Given the description of an element on the screen output the (x, y) to click on. 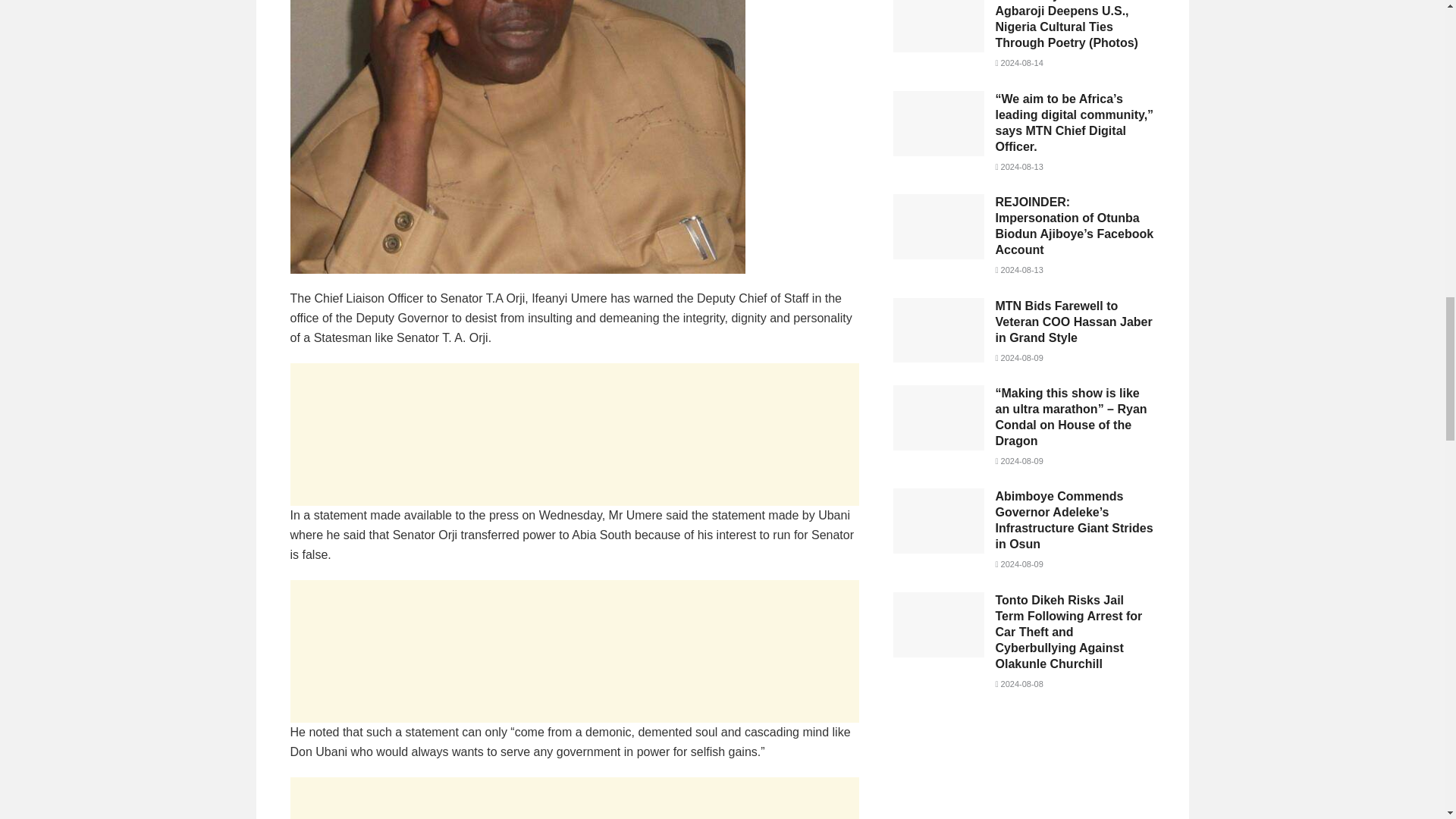
Advertisement (574, 798)
Advertisement (574, 650)
Advertisement (574, 434)
Advertisement (1023, 770)
